Given the description of an element on the screen output the (x, y) to click on. 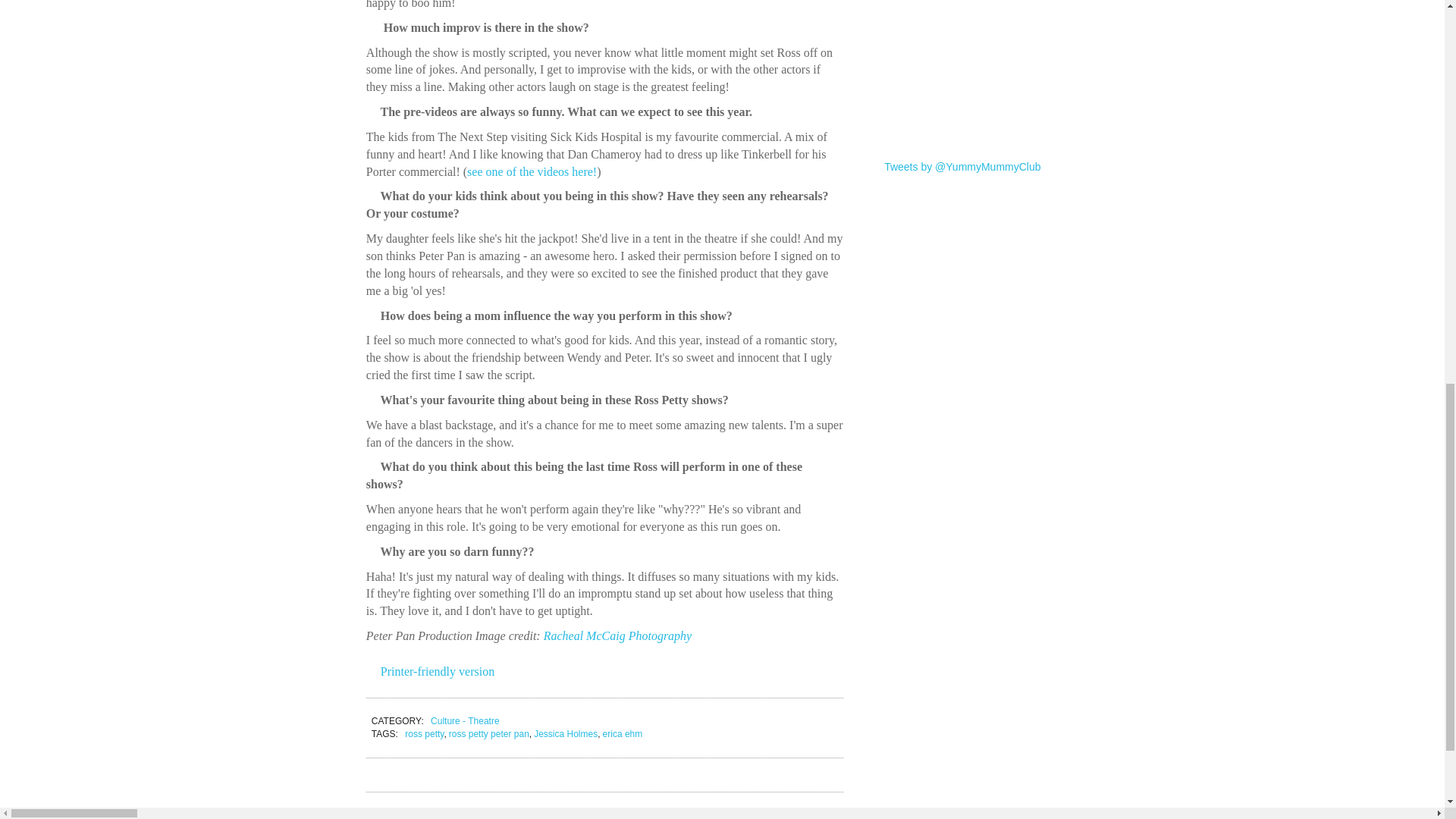
Display a printer-friendly version of this page. (430, 671)
